Given the description of an element on the screen output the (x, y) to click on. 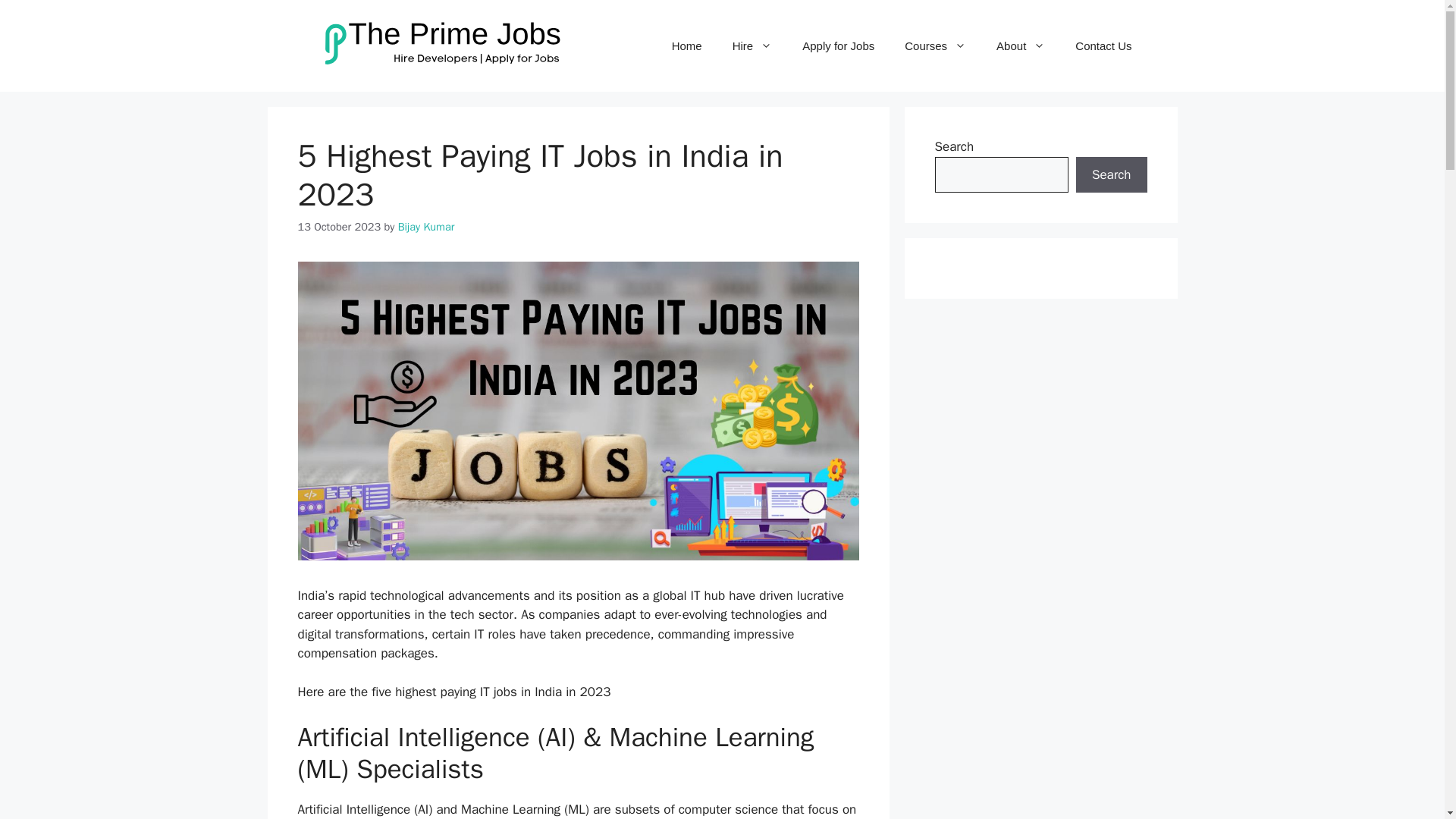
Bijay Kumar (425, 226)
About (1020, 45)
Apply for Jobs (838, 45)
View all posts by Bijay Kumar (425, 226)
Home (686, 45)
Contact Us (1103, 45)
Search (1111, 175)
Courses (935, 45)
Hire (752, 45)
